Given the description of an element on the screen output the (x, y) to click on. 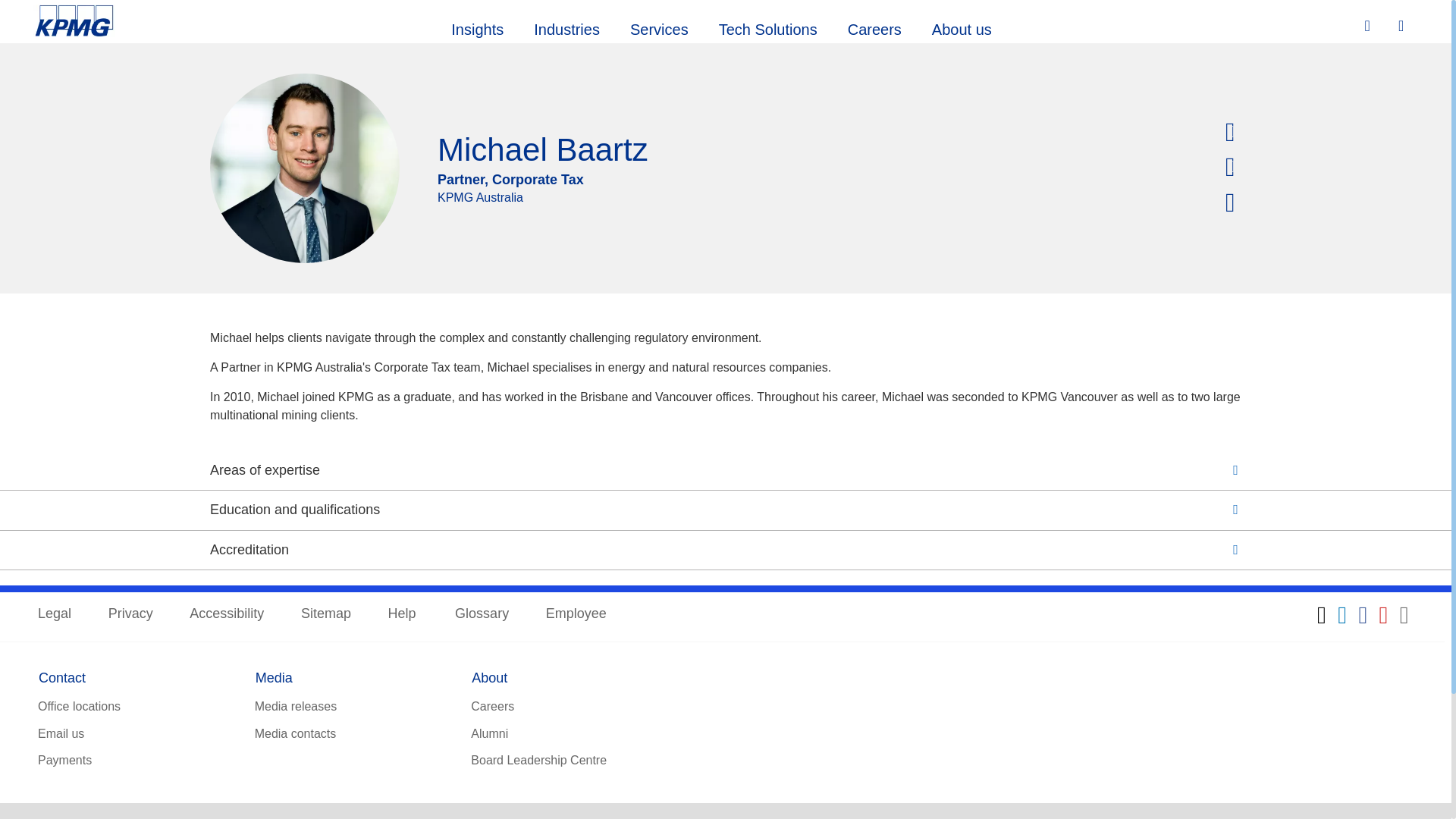
Phone number Michael Baartz (1233, 168)
Employee (576, 614)
Sitemap (325, 614)
Industries (566, 27)
Accessibility (226, 614)
Location Brisbane, AU (1233, 133)
Areas of expertise (725, 470)
Glossary (481, 614)
Tech Solutions (767, 27)
Privacy (129, 614)
Insights (476, 27)
Services (658, 27)
Search (1369, 26)
Accreditation (725, 549)
Site Selector (1402, 26)
